Given the description of an element on the screen output the (x, y) to click on. 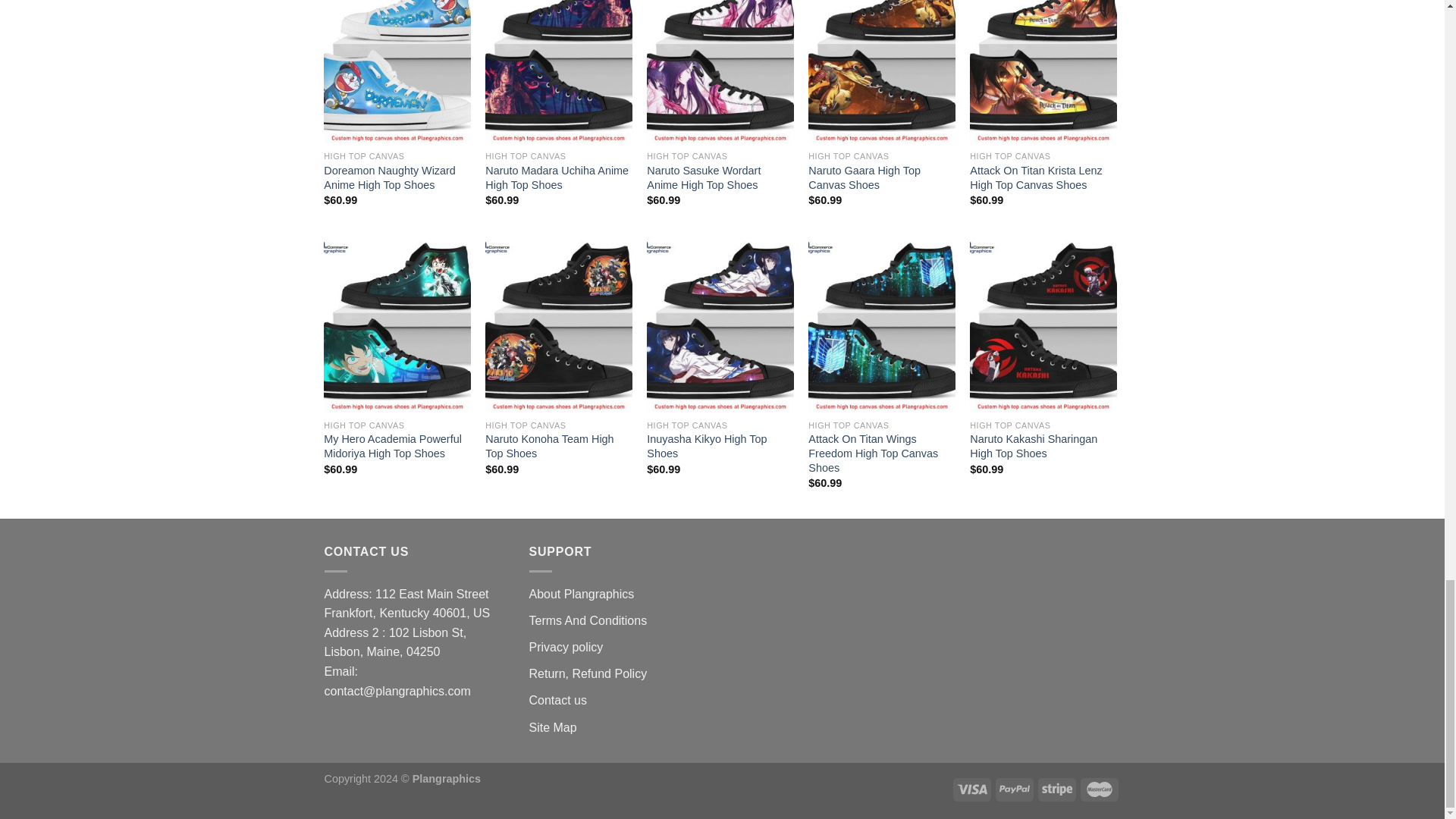
Naruto Madara Uchiha Anime High Top Shoes (557, 177)
About us (581, 594)
Doreamon Naughty Wizard Anime High Top Shoes (396, 177)
